Given the description of an element on the screen output the (x, y) to click on. 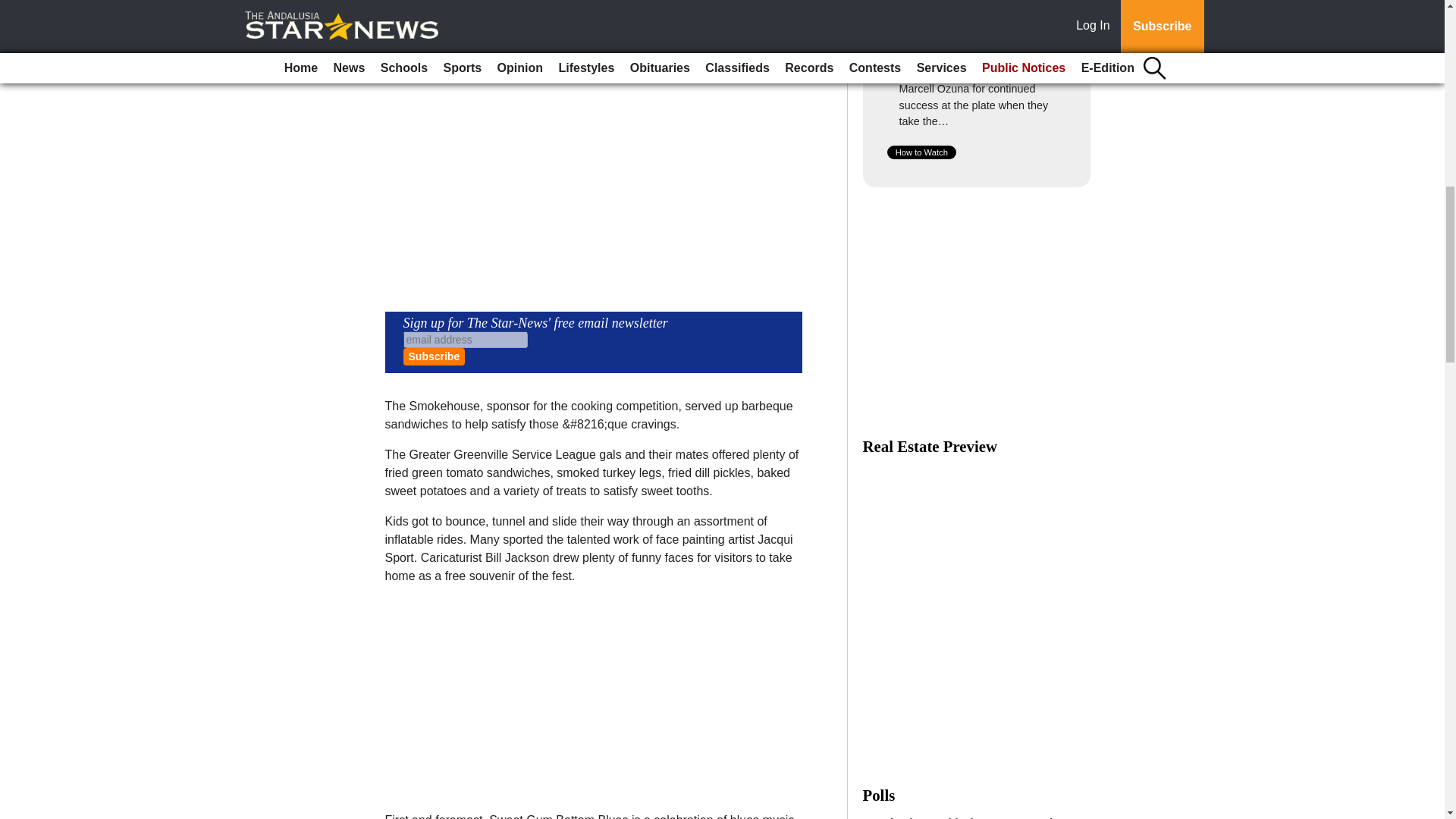
Subscribe (434, 356)
Subscribe (434, 356)
How to Watch (921, 151)
